Given the description of an element on the screen output the (x, y) to click on. 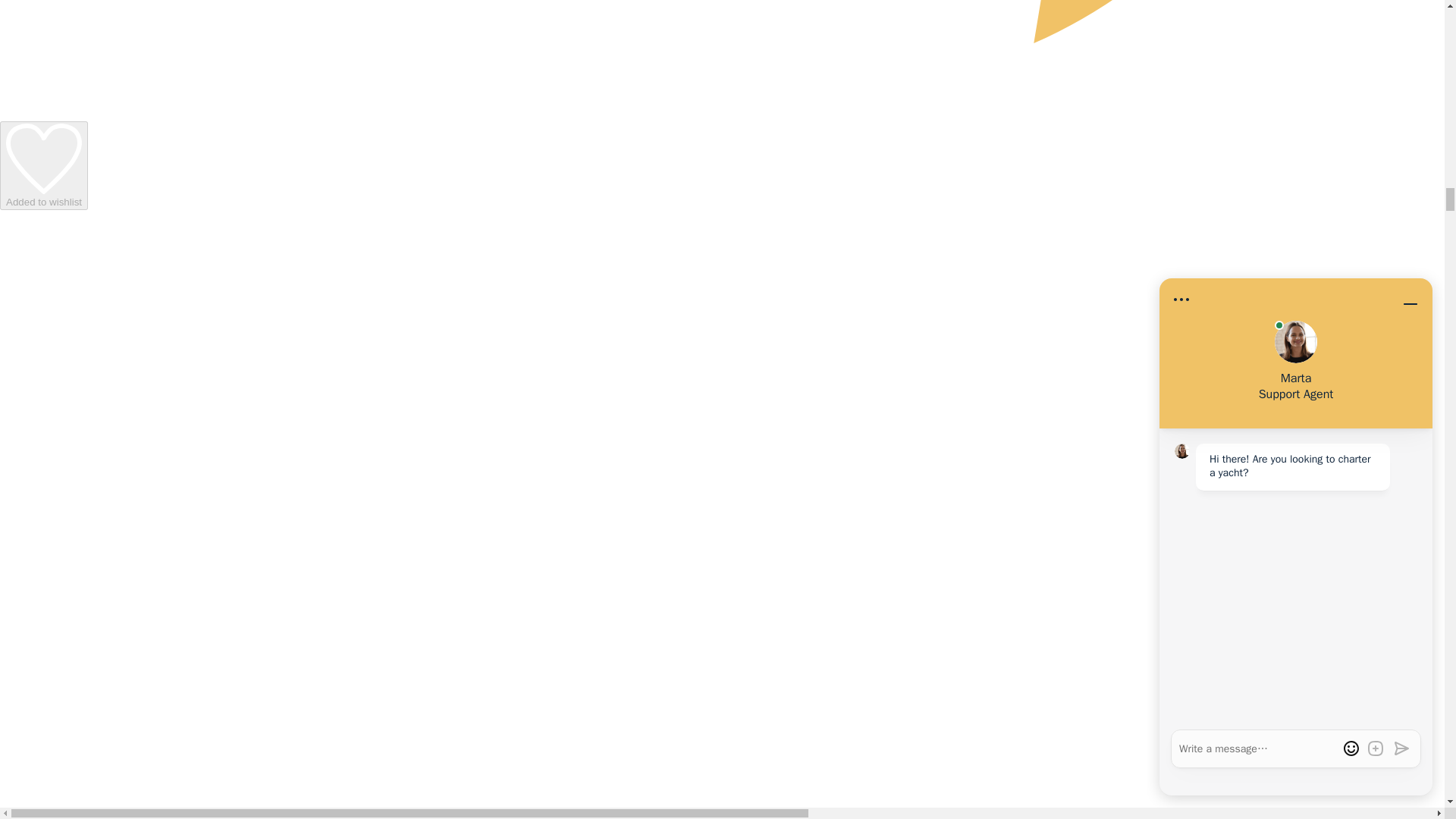
icon-heart (43, 165)
search (43, 158)
